Given the description of an element on the screen output the (x, y) to click on. 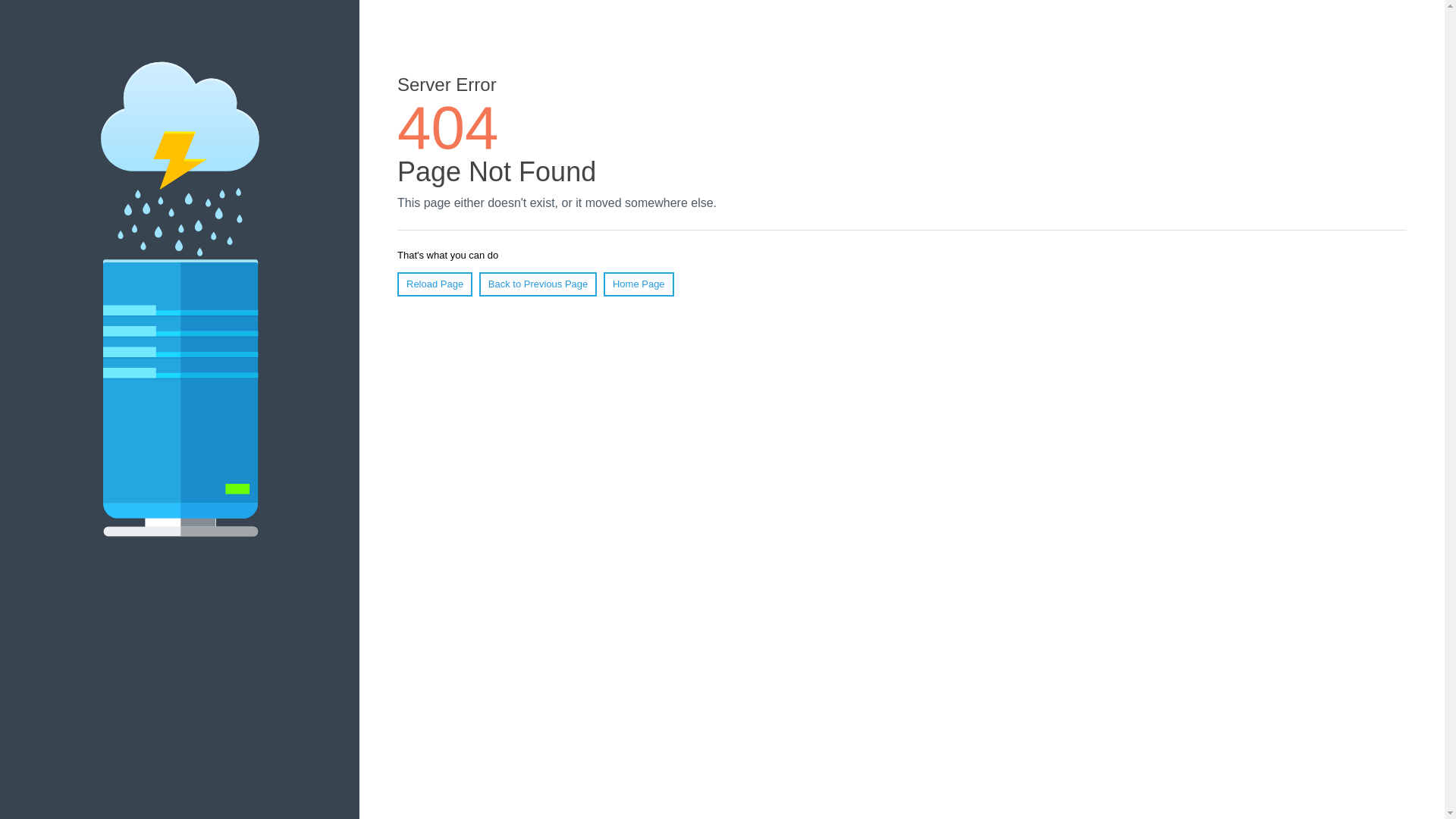
Home Page Element type: text (638, 284)
Reload Page Element type: text (434, 284)
Back to Previous Page Element type: text (538, 284)
